Given the description of an element on the screen output the (x, y) to click on. 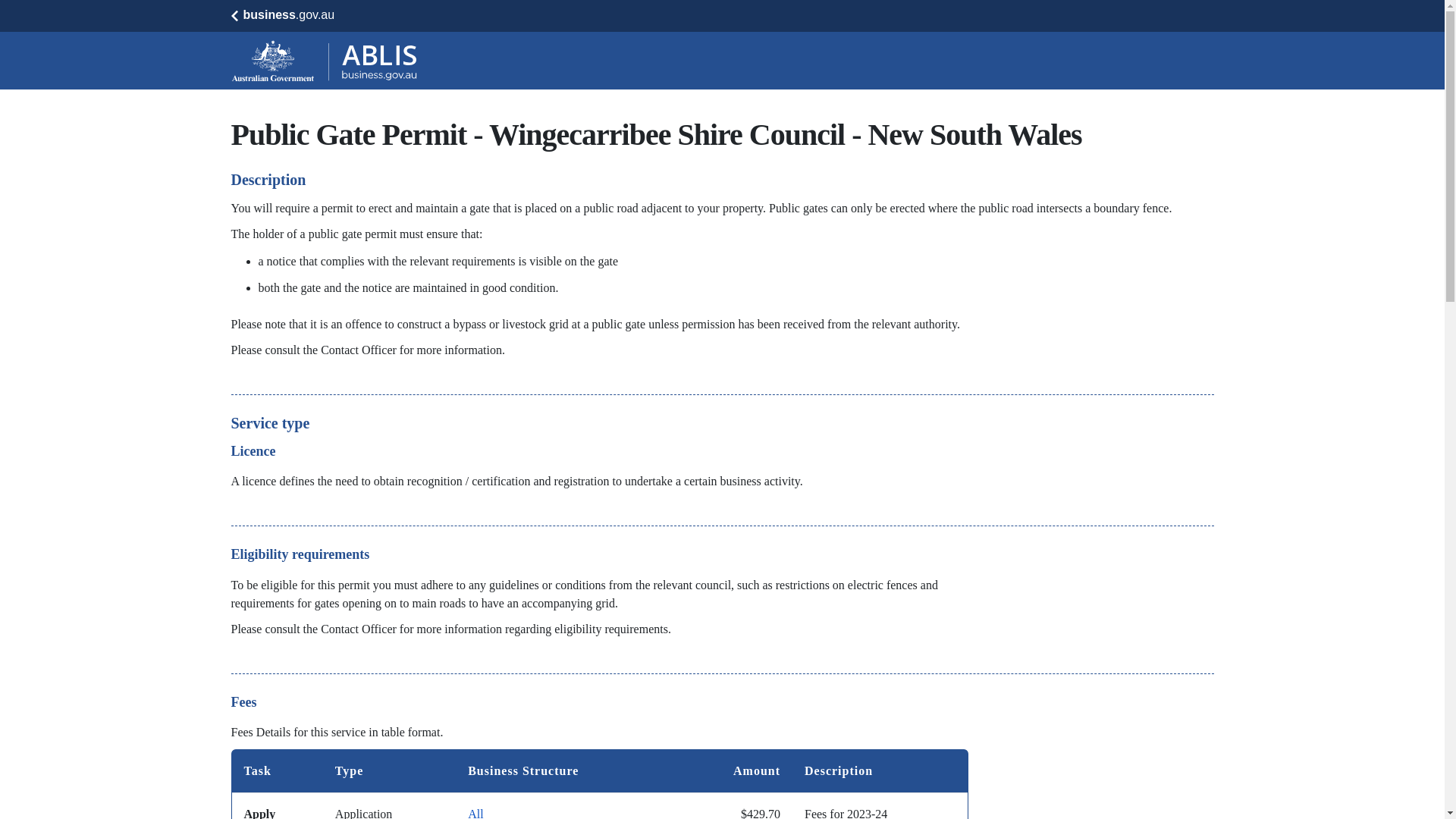
business.gov.au (282, 15)
All (475, 813)
Fees for this service (599, 784)
